Given the description of an element on the screen output the (x, y) to click on. 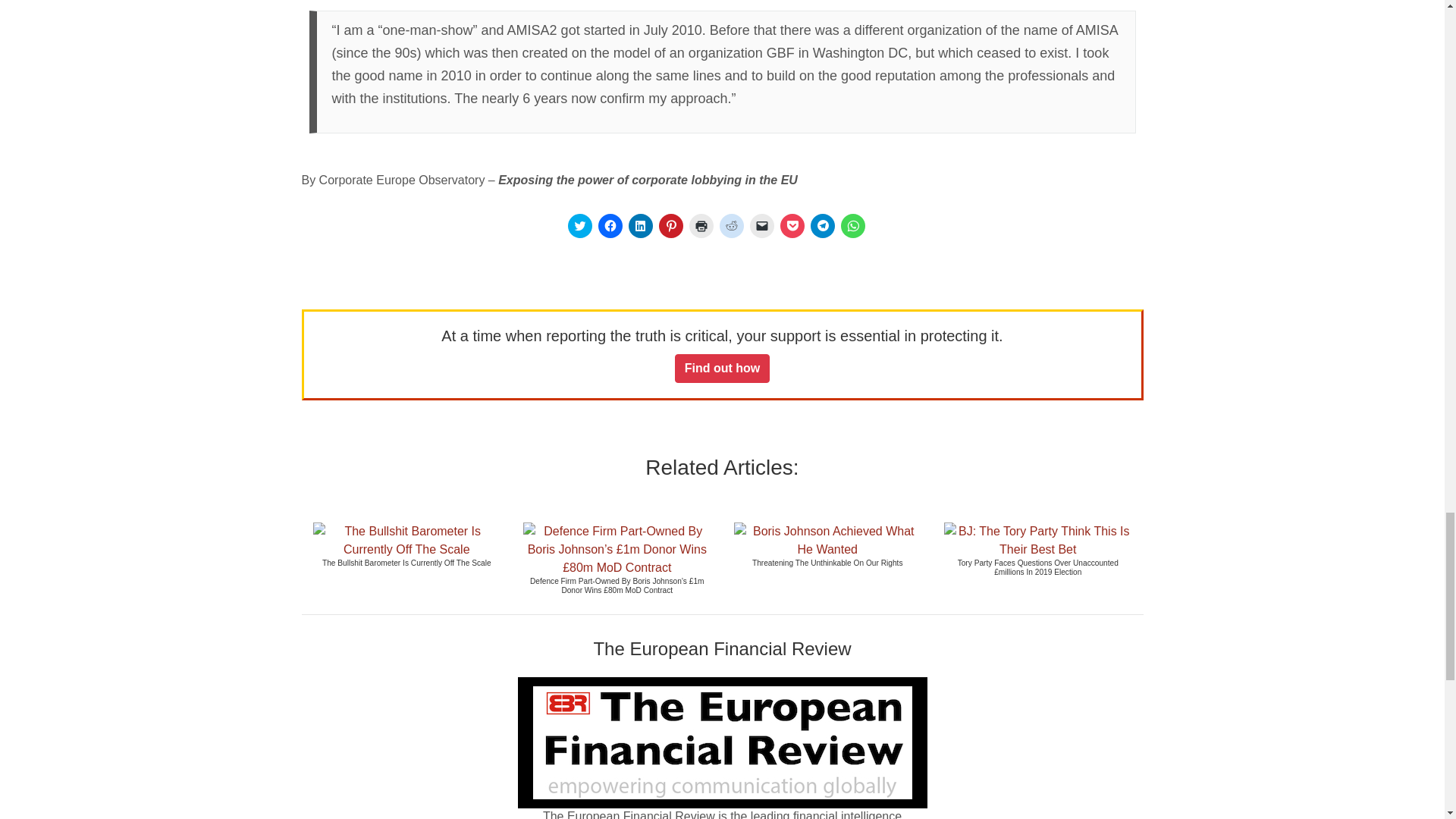
Click to share on WhatsApp (852, 225)
Click to share on Pinterest (670, 225)
Click to share on Telegram (821, 225)
Click to share on LinkedIn (639, 225)
Click to share on Pocket (790, 225)
Click to share on Reddit (730, 225)
Click to share on Facebook (608, 225)
Click to print (700, 225)
Click to email a link to a friend (761, 225)
Got to European financial review website (721, 742)
Click to share on Twitter (579, 225)
